Given the description of an element on the screen output the (x, y) to click on. 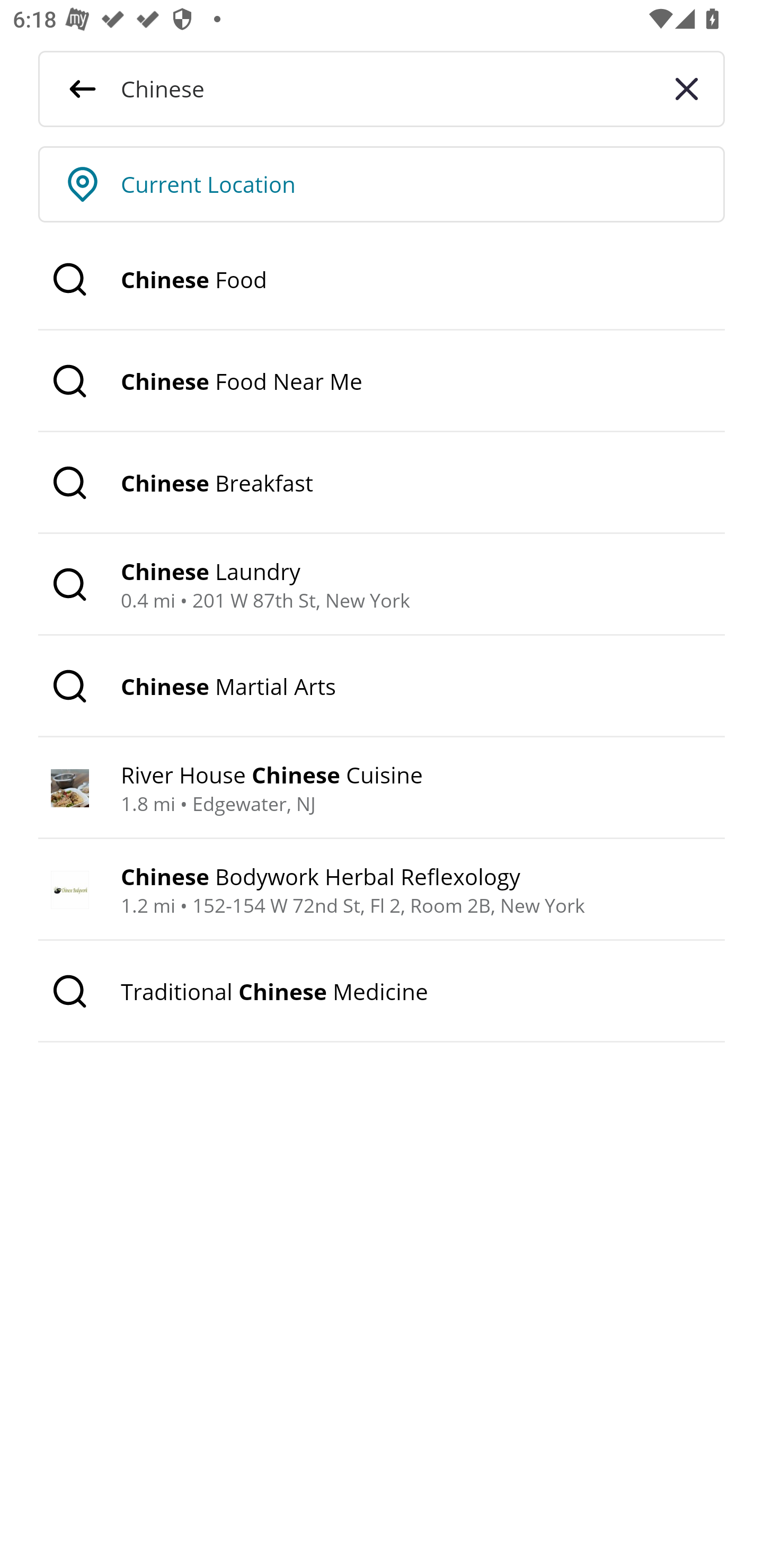
Chinese Food (381, 279)
